Given the description of an element on the screen output the (x, y) to click on. 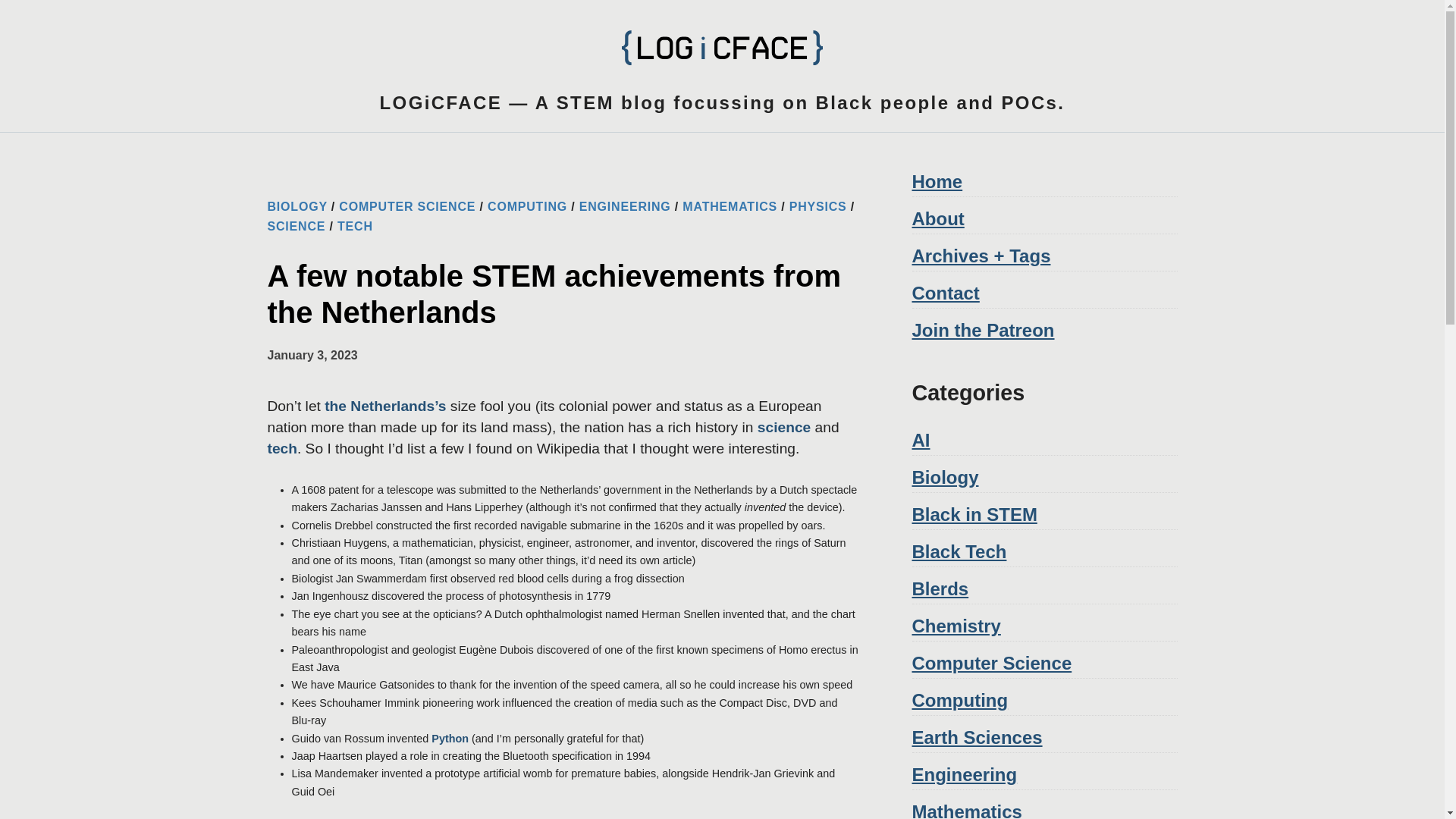
Biology (944, 476)
COMPUTER SCIENCE (407, 205)
science (783, 426)
Python (449, 738)
Join the Patreon (982, 330)
Home (936, 181)
tech (281, 448)
About (937, 218)
TECH (354, 226)
ENGINEERING (625, 205)
COMPUTING (527, 205)
SCIENCE (295, 226)
PHYSICS (818, 205)
BIOLOGY (296, 205)
